Given the description of an element on the screen output the (x, y) to click on. 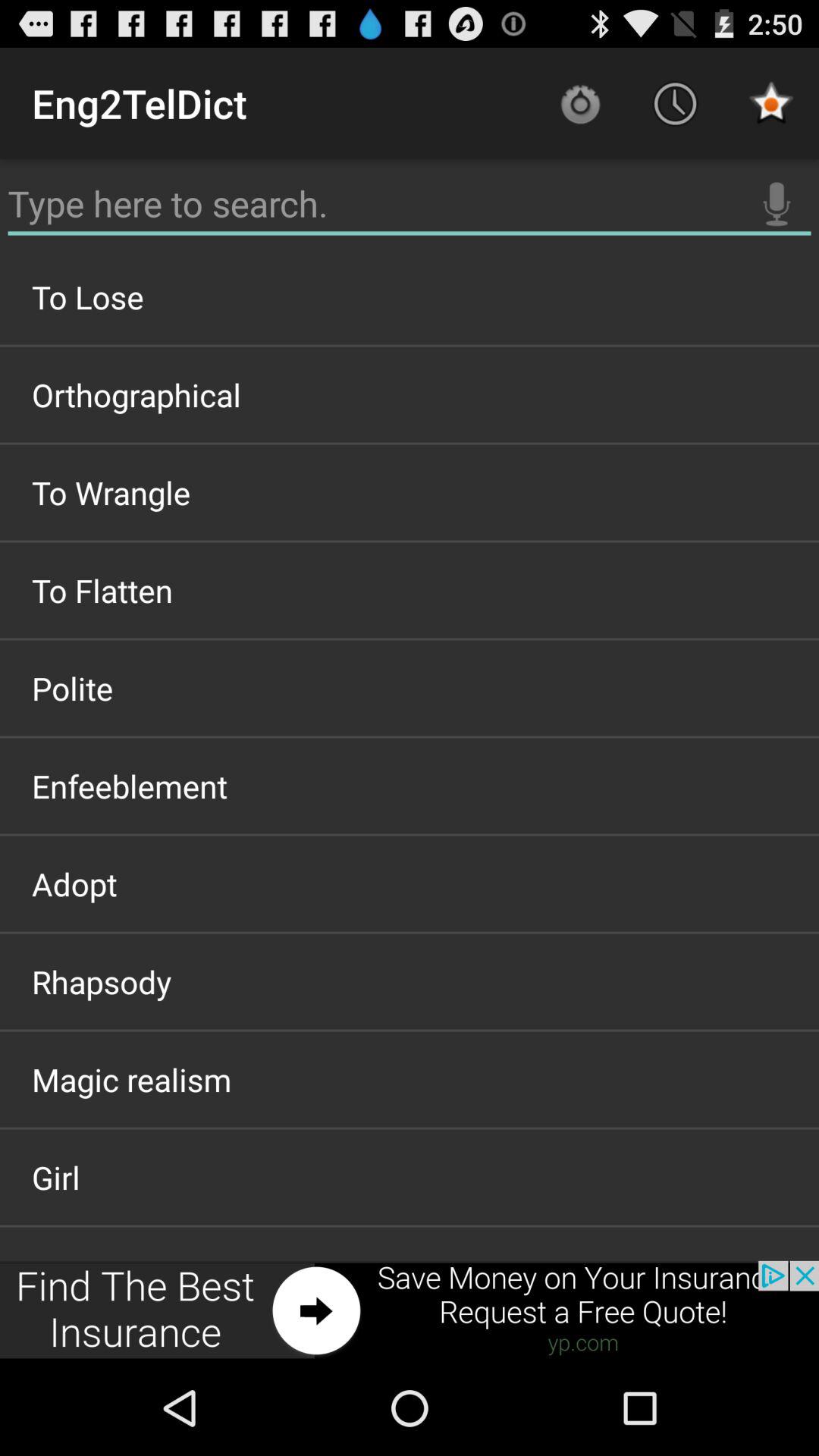
tap item below the girl icon (409, 1310)
